Given the description of an element on the screen output the (x, y) to click on. 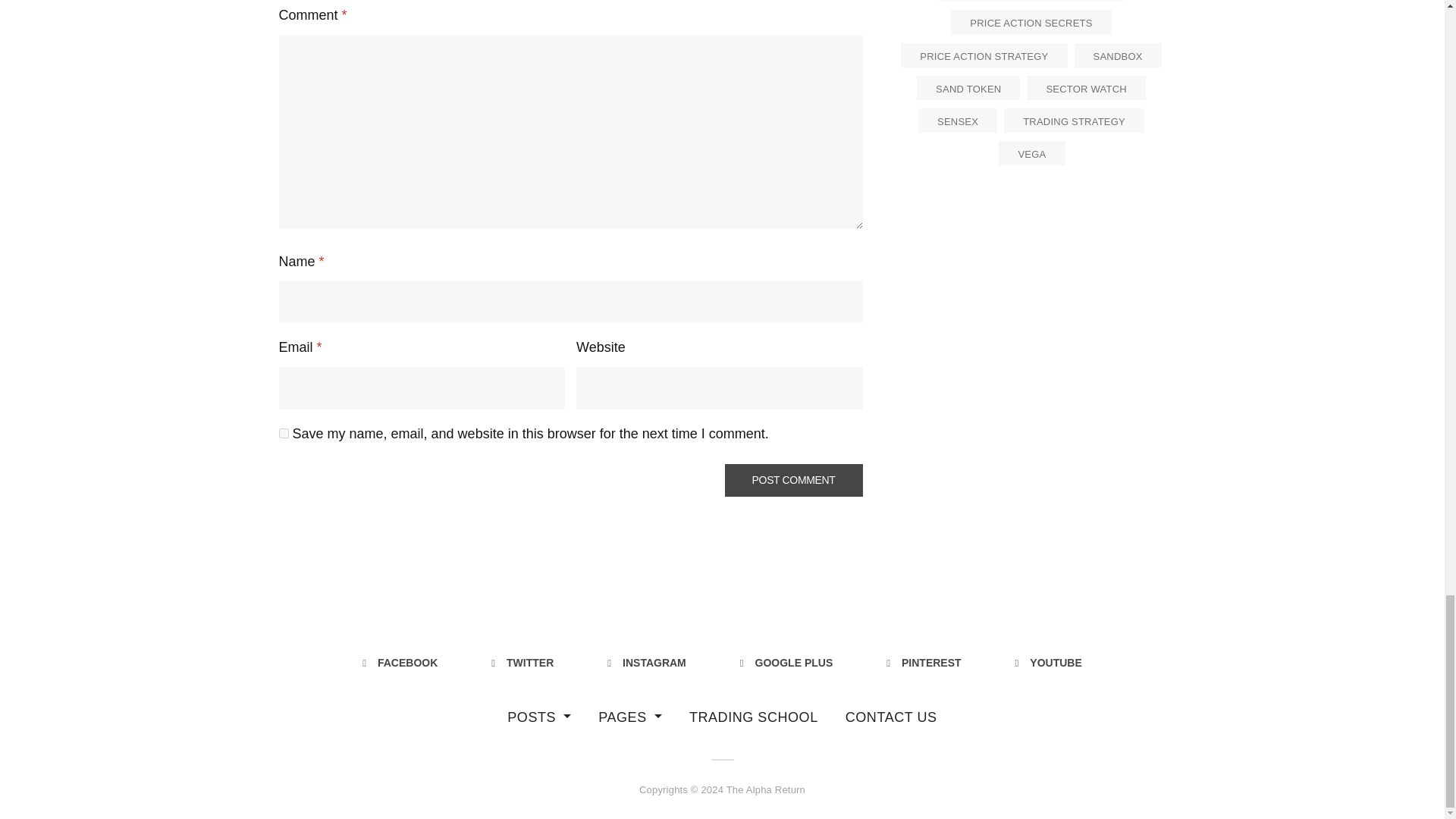
yes (283, 433)
Post Comment (794, 480)
